Given the description of an element on the screen output the (x, y) to click on. 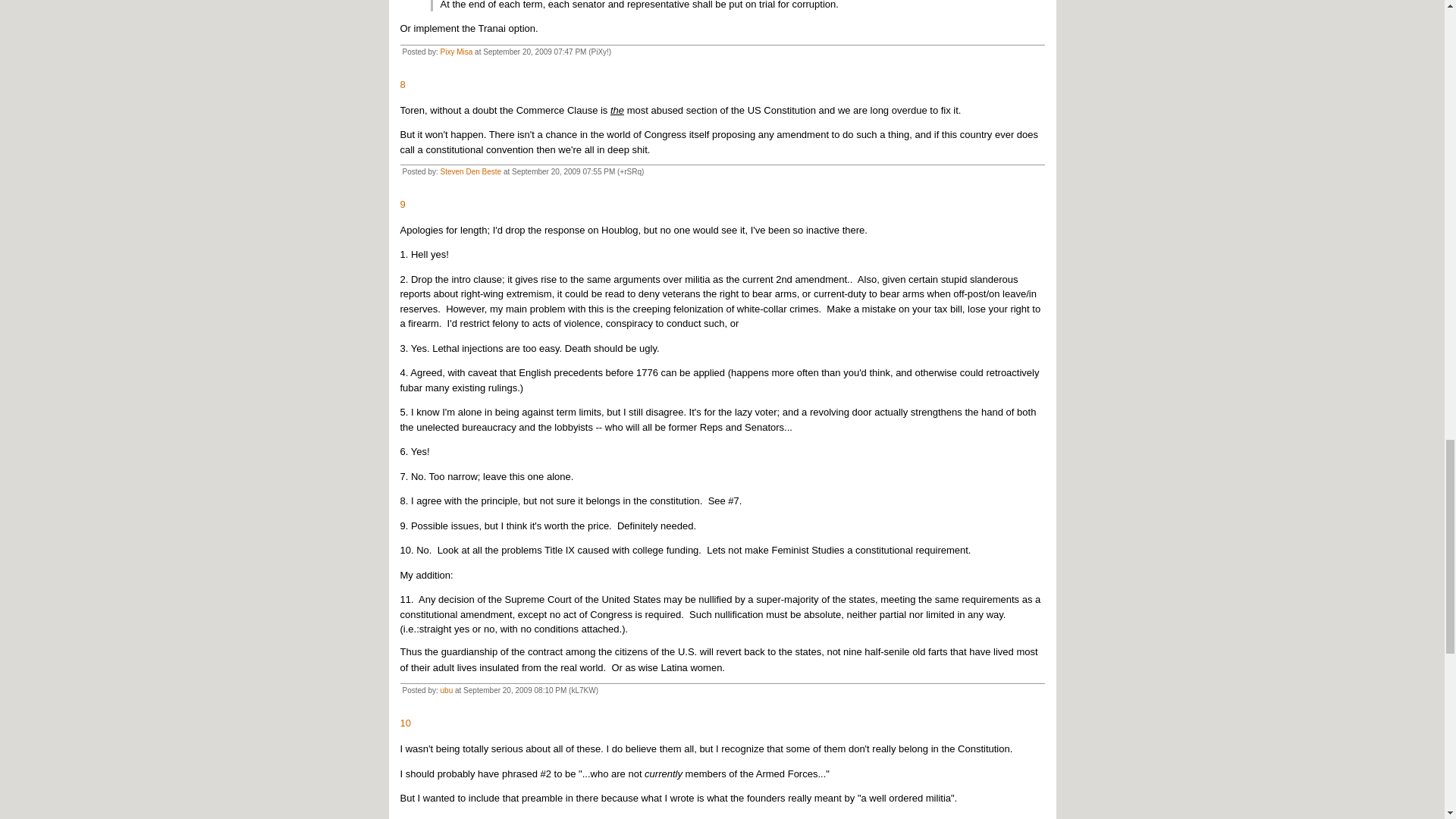
Pixy Misa (457, 51)
